Given the description of an element on the screen output the (x, y) to click on. 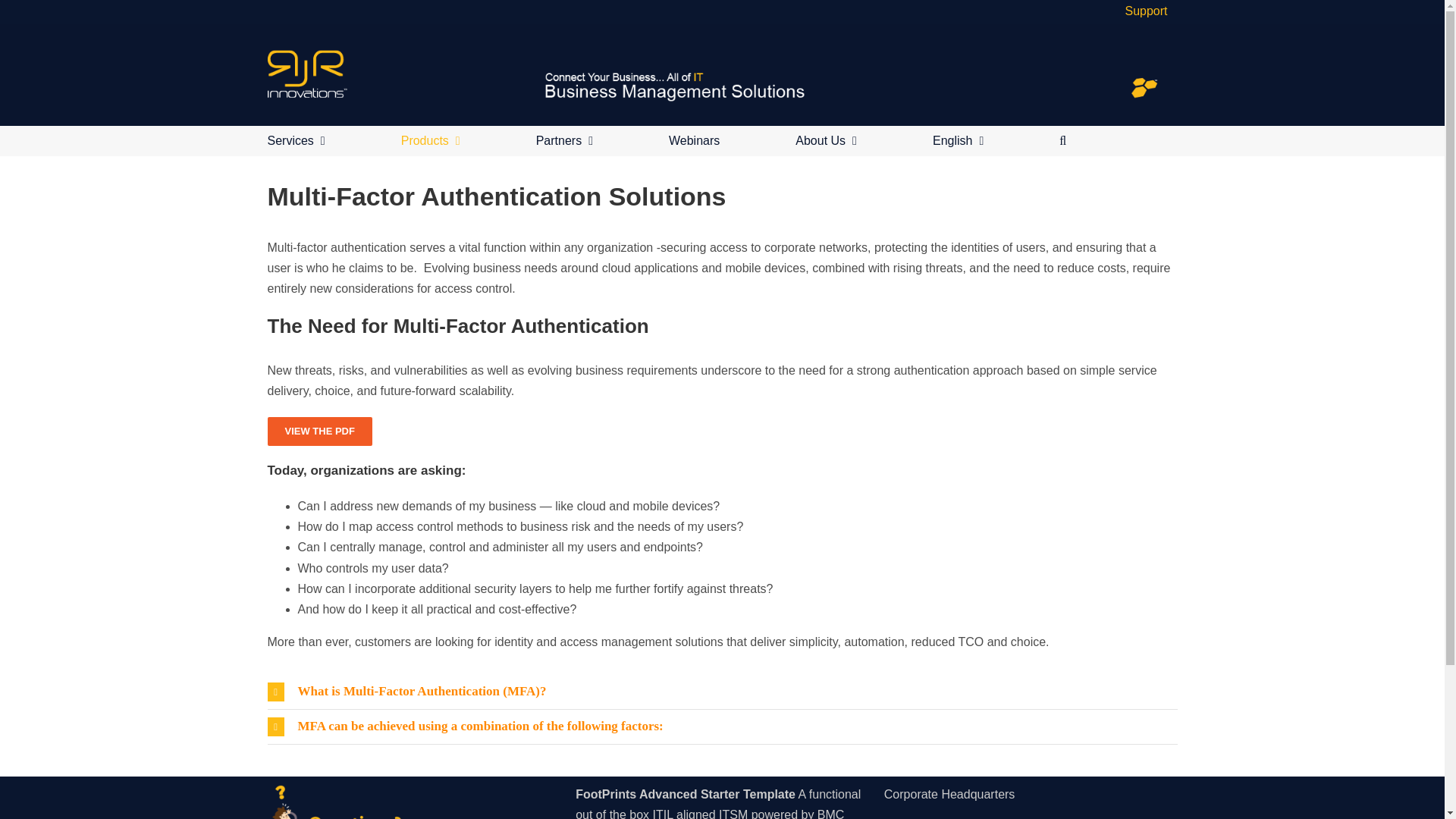
Services (295, 141)
Products (430, 141)
Support (1145, 11)
